Given the description of an element on the screen output the (x, y) to click on. 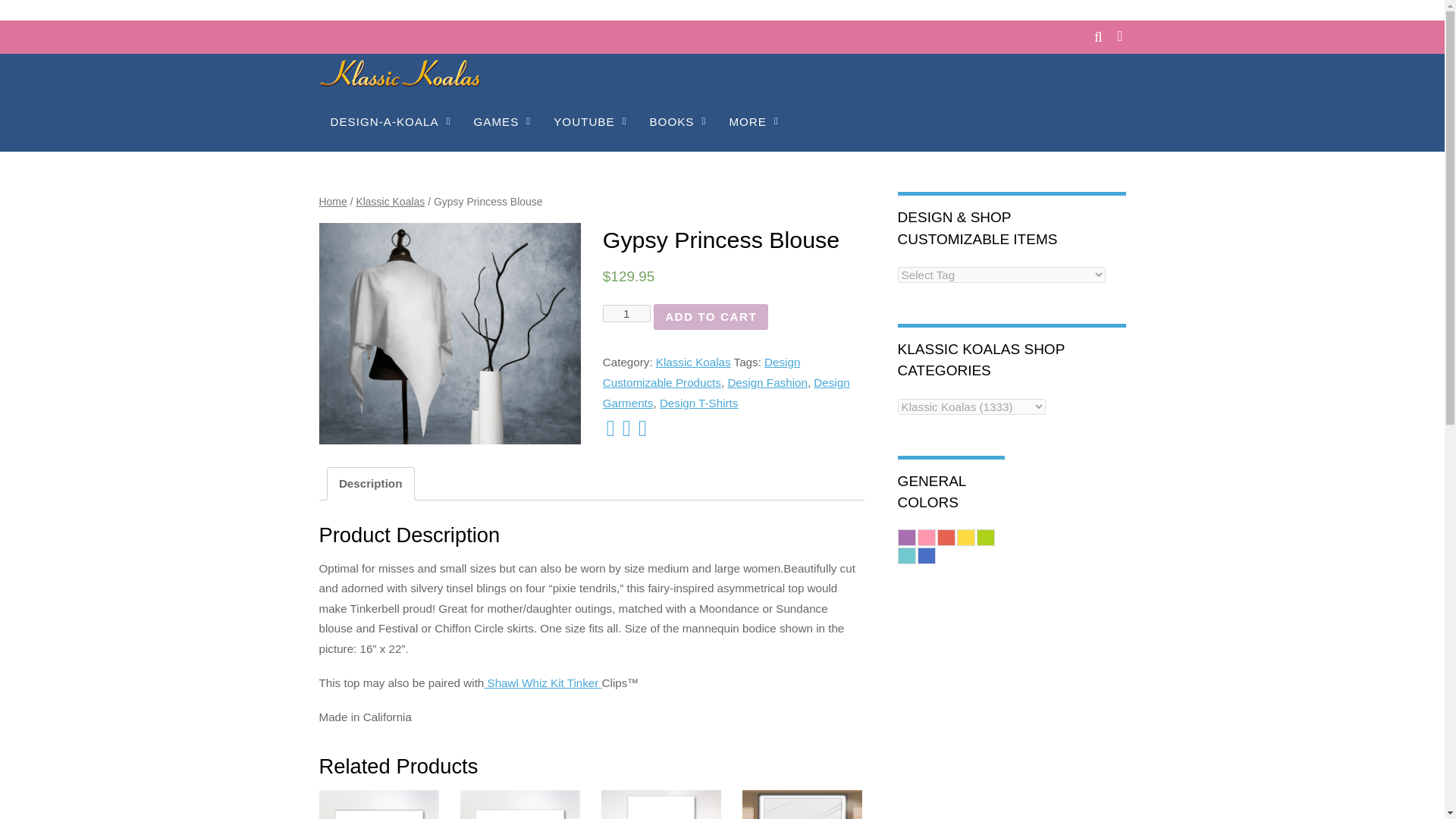
DESIGN-A-KOALA (389, 122)
Klassic Koalas (399, 80)
Klassic Koalas (399, 72)
GAMES (501, 122)
MORE (753, 122)
Qty (626, 313)
1 (626, 313)
YOUTUBE (589, 122)
BOOKS (677, 122)
